Given the description of an element on the screen output the (x, y) to click on. 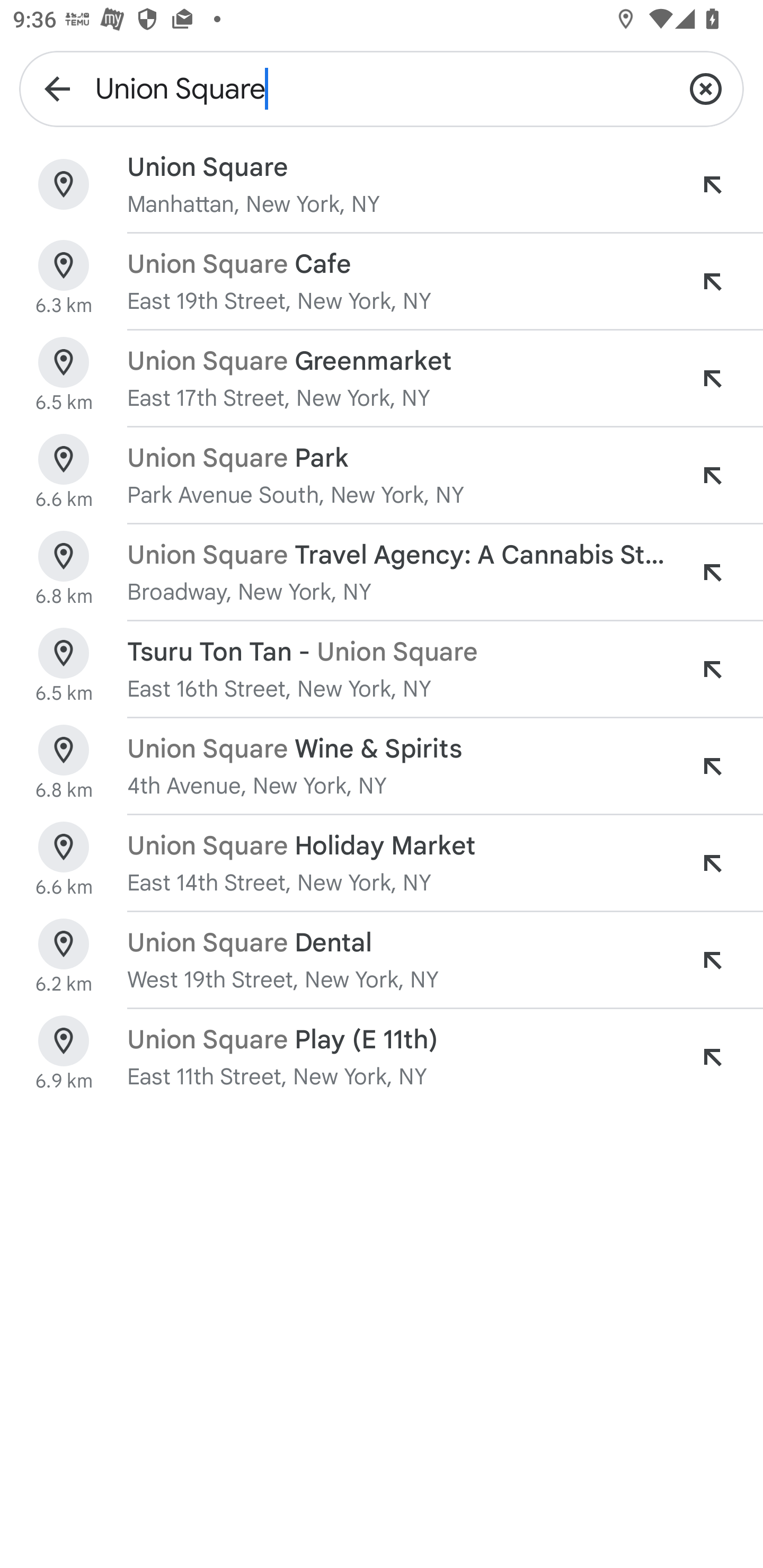
Navigate up (57, 88)
Union Square (381, 88)
Clear (705, 88)
